Given the description of an element on the screen output the (x, y) to click on. 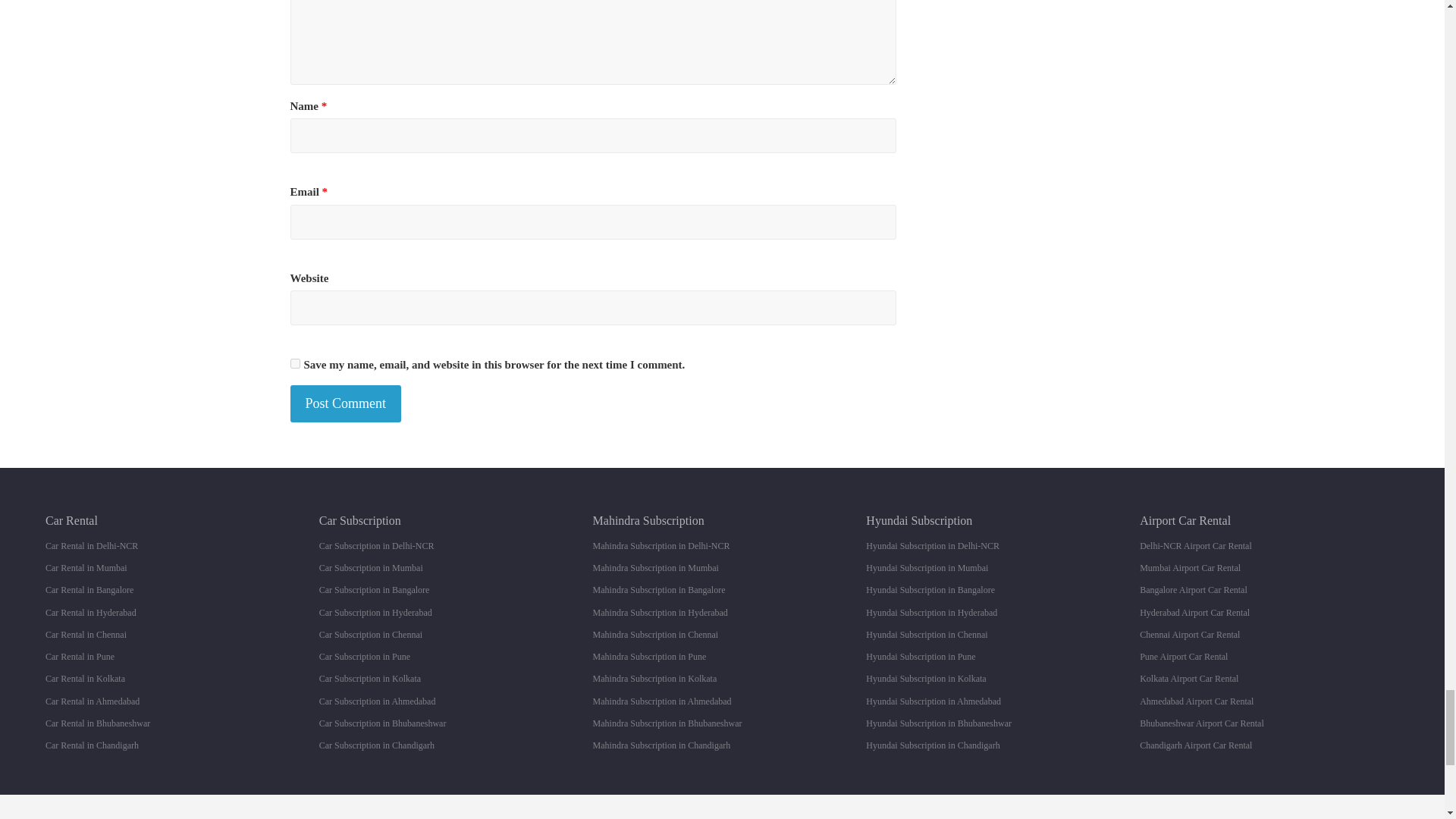
yes (294, 363)
Post Comment (345, 403)
